Given the description of an element on the screen output the (x, y) to click on. 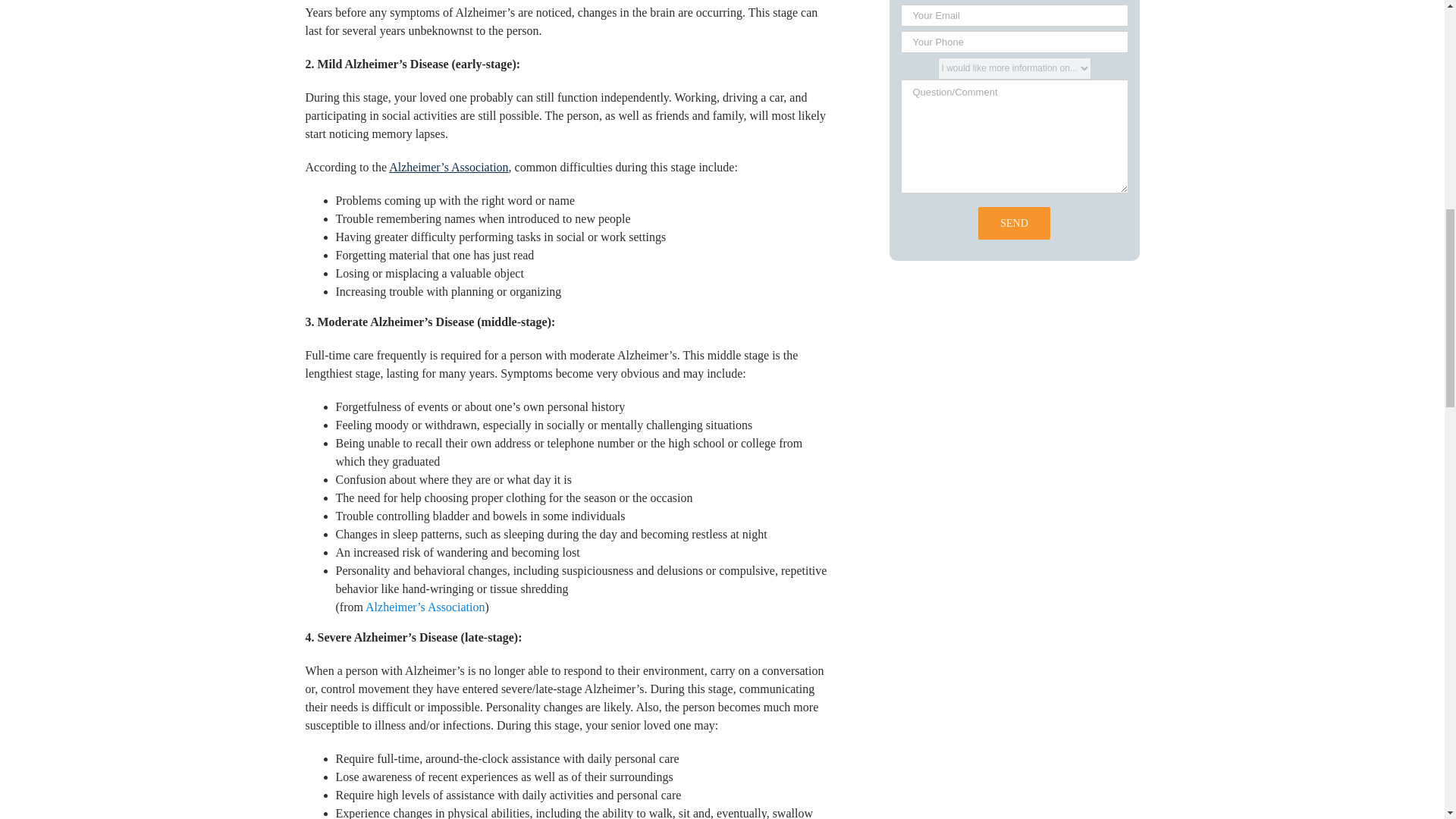
Send (1013, 223)
